Given the description of an element on the screen output the (x, y) to click on. 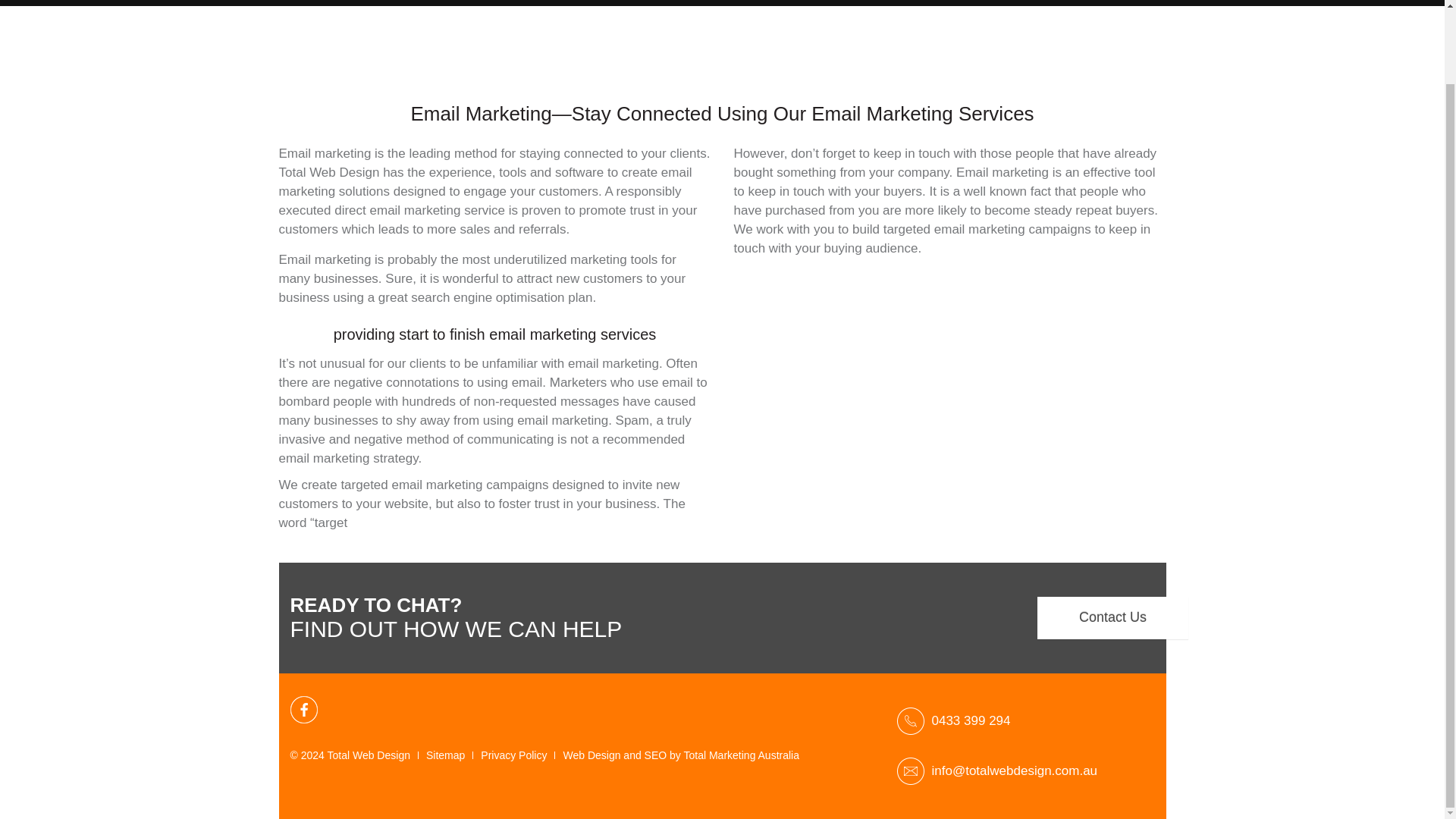
Contact Us (1112, 618)
Total Marketing Australia (740, 755)
Sitemap (445, 755)
Privacy Policy (513, 755)
